Given the description of an element on the screen output the (x, y) to click on. 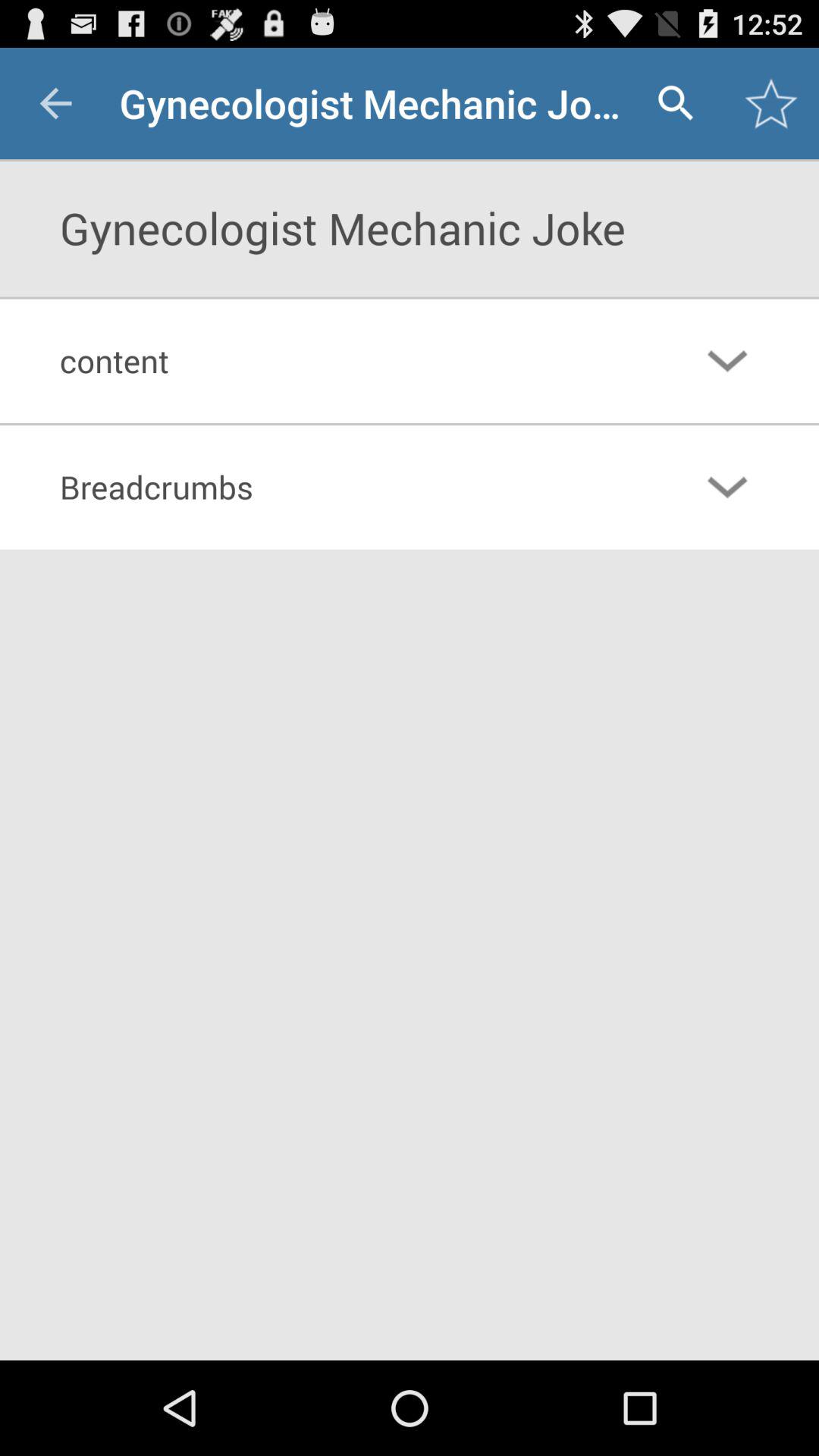
jump until content icon (347, 360)
